Given the description of an element on the screen output the (x, y) to click on. 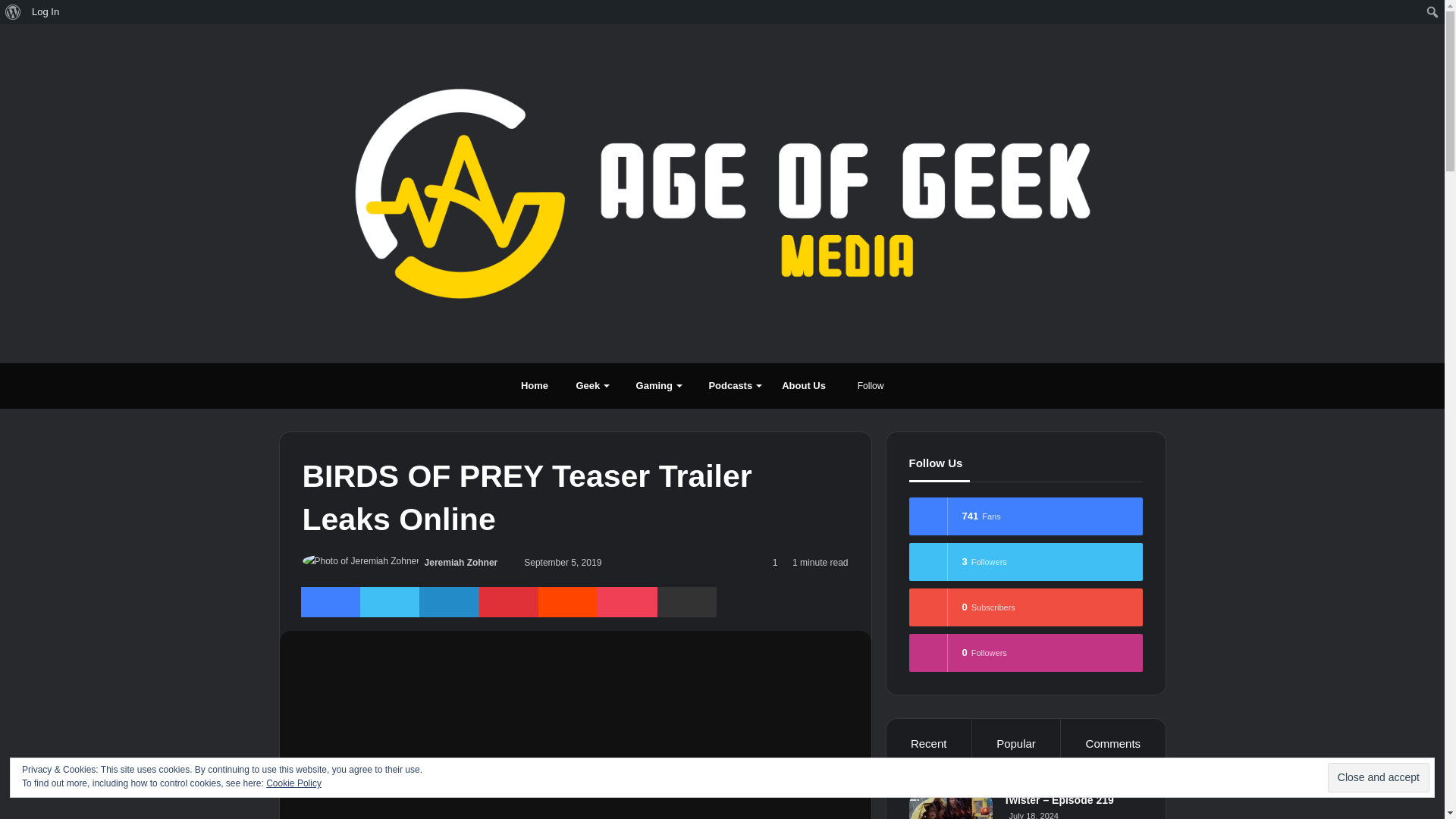
Facebook (329, 602)
Pinterest (508, 602)
Pocket (626, 602)
About Us (803, 385)
Facebook (329, 602)
Geek (588, 385)
LinkedIn (449, 602)
Reddit (567, 602)
Follow (865, 385)
Log In (45, 12)
LinkedIn (449, 602)
Home (531, 385)
Reddit (567, 602)
Search (11, 12)
Twitter (389, 602)
